Given the description of an element on the screen output the (x, y) to click on. 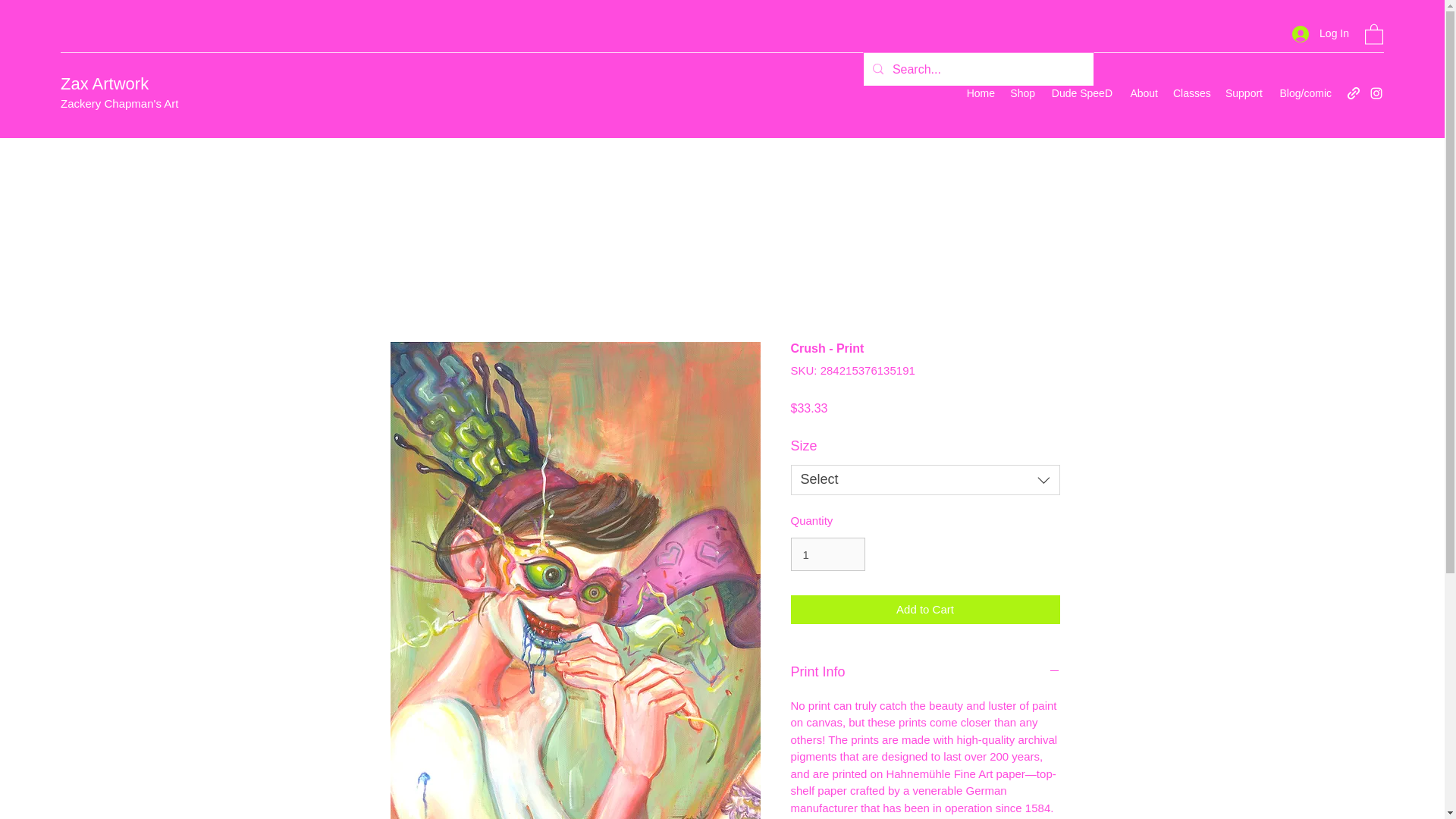
Classes (1190, 92)
Add to Cart (924, 609)
Log In (1320, 33)
About (1142, 92)
Print Info (924, 672)
Zax Artwork (104, 83)
1 (827, 553)
Shop (1022, 92)
Dude SpeeD (1080, 92)
Support (1242, 92)
